Given the description of an element on the screen output the (x, y) to click on. 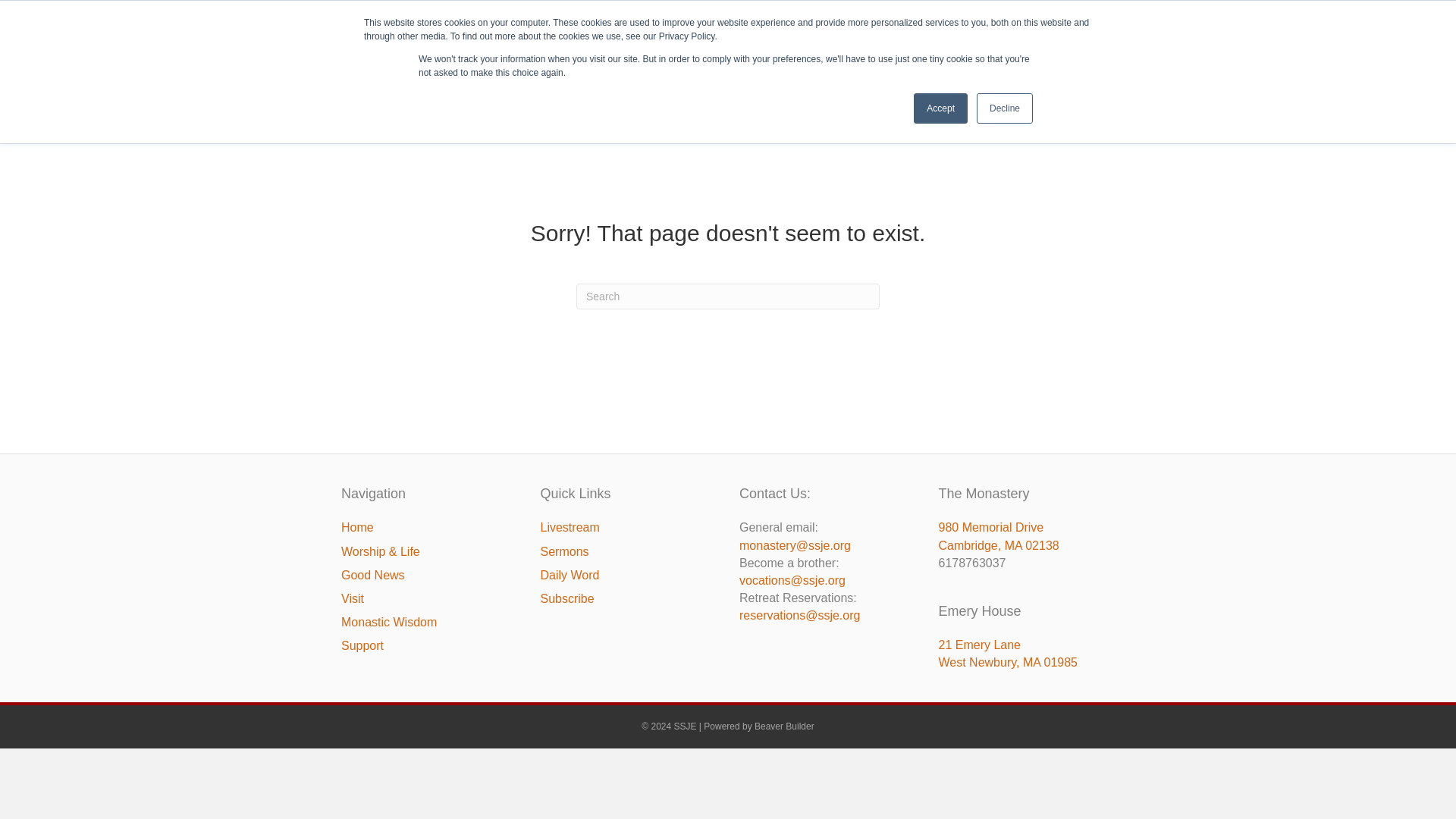
Home (688, 69)
Retreats (906, 69)
Sermons (975, 13)
Daily Word (1034, 13)
Type and press Enter to search. (727, 296)
WordPress Page Builder Plugin (783, 725)
Subscribe (1094, 13)
SSJE (464, 69)
Decline (1004, 108)
Livestream (917, 13)
Good News (838, 69)
Accept (941, 108)
